Given the description of an element on the screen output the (x, y) to click on. 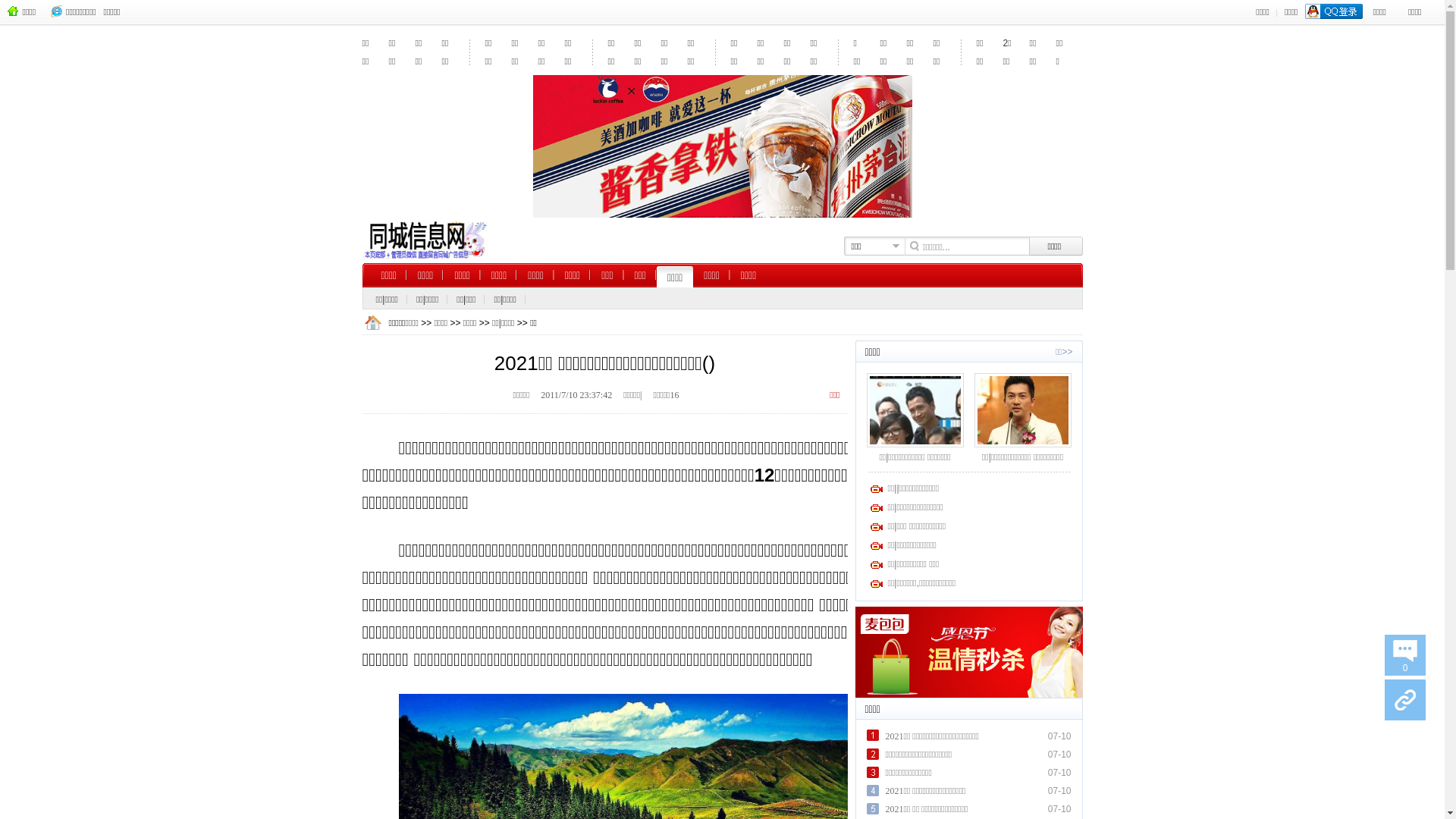
0 Element type: text (1404, 654)
